Given the description of an element on the screen output the (x, y) to click on. 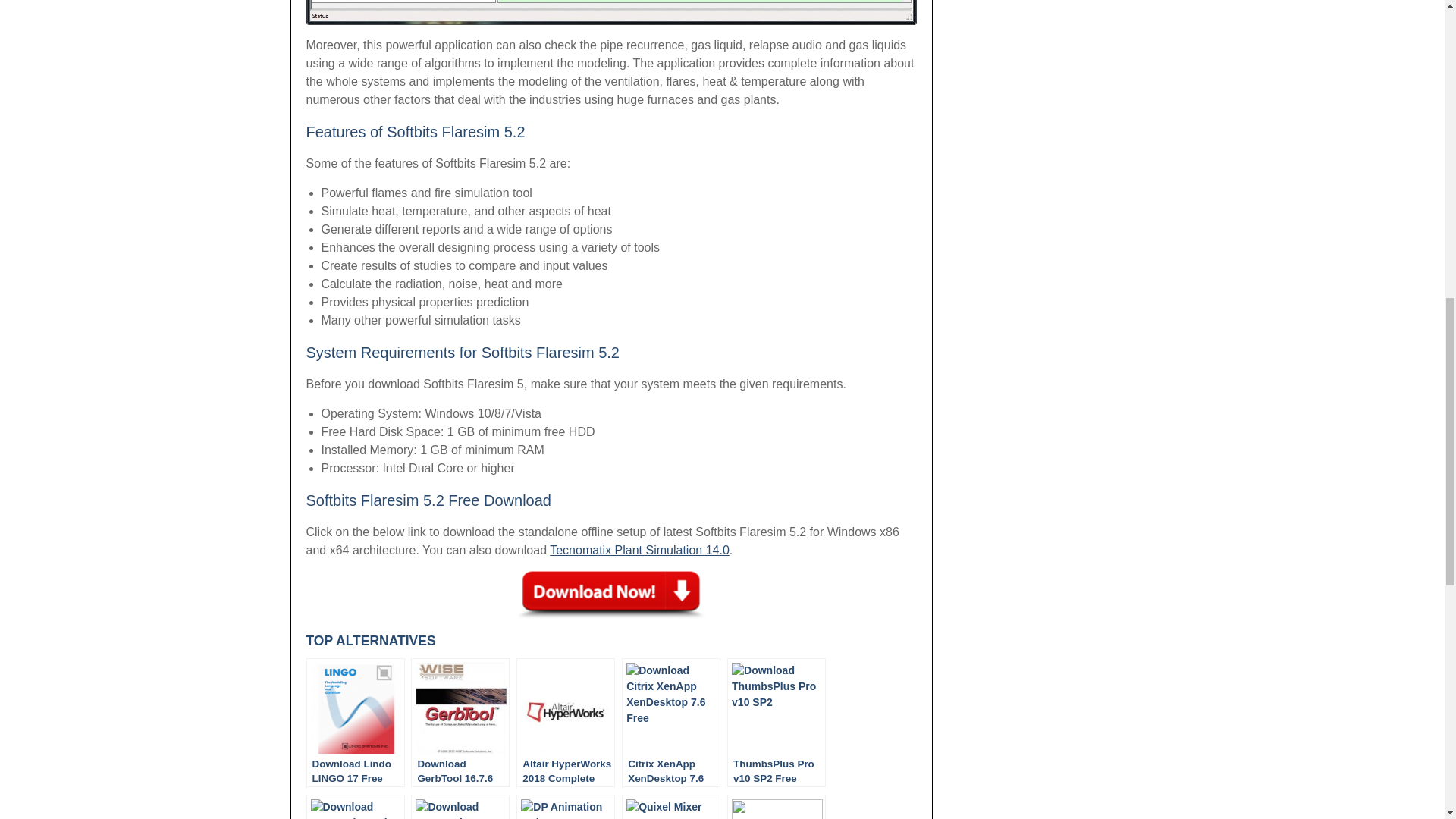
DP Animation Maker 3.5.31 (565, 806)
Quixel Mixer 2020 Free Download (670, 806)
Geometric NestingWorks 2019 Free Download (459, 806)
DP Animation Maker 3.5.31 (565, 806)
Tecnomatix Plant Simulation 14.0 (639, 549)
VectorStyler 1.1.116 (775, 806)
Geomagic Sculpt 2019 Free Download (354, 806)
Geometric NestingWorks 2019 Free Download (459, 806)
Geomagic Sculpt 2019 Free Download (354, 806)
Quixel Mixer 2020 Free Download (670, 806)
